Given the description of an element on the screen output the (x, y) to click on. 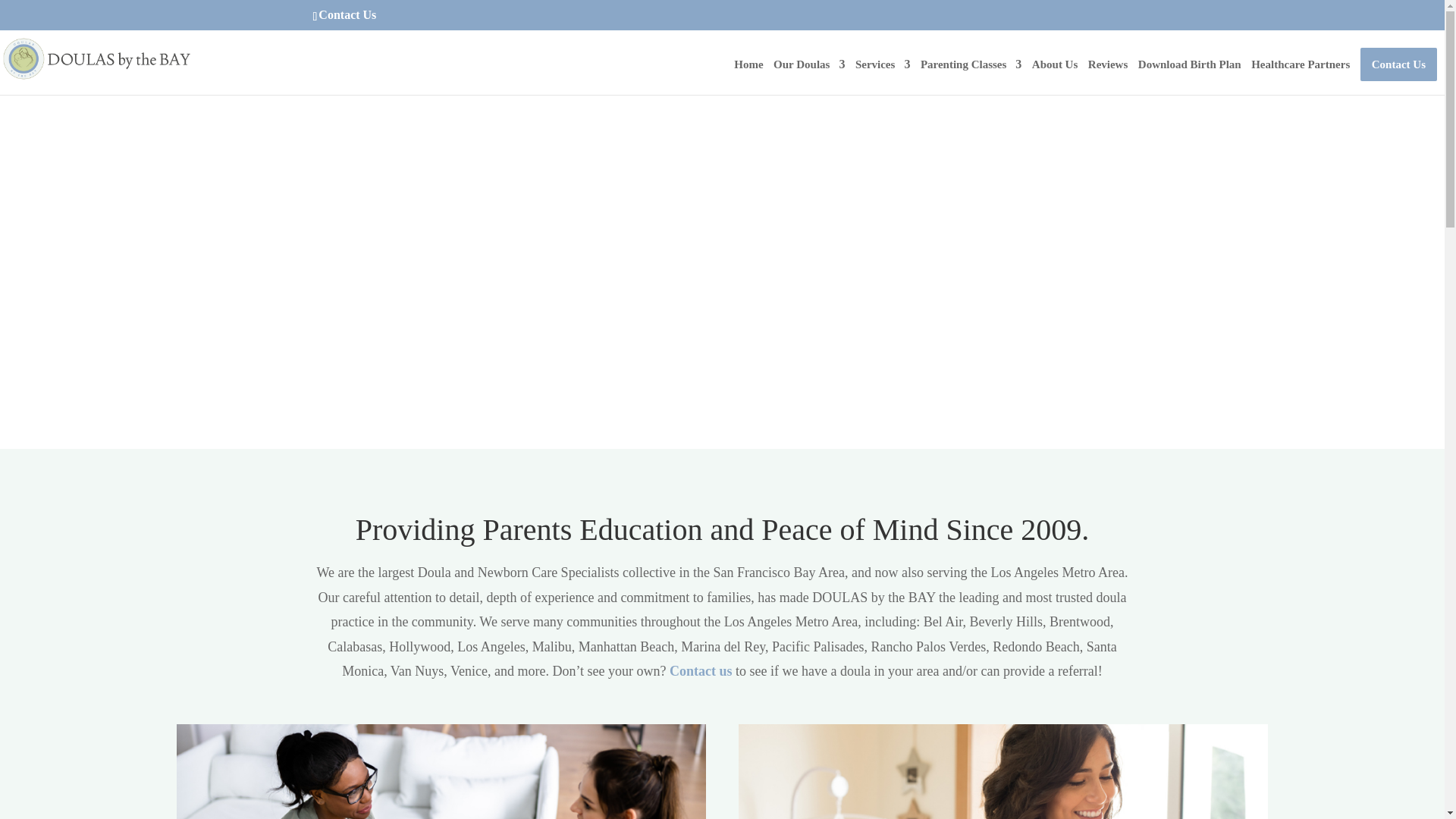
Services (883, 76)
Contact us (700, 670)
Download Birth Plan (1189, 76)
Healthcare Partners (1299, 76)
About Us (1054, 76)
Postpartum Doula Support Services (1003, 771)
Parenting Classes (971, 76)
Reviews (1107, 76)
Our Doulas (808, 76)
Contact Us (346, 14)
